Given the description of an element on the screen output the (x, y) to click on. 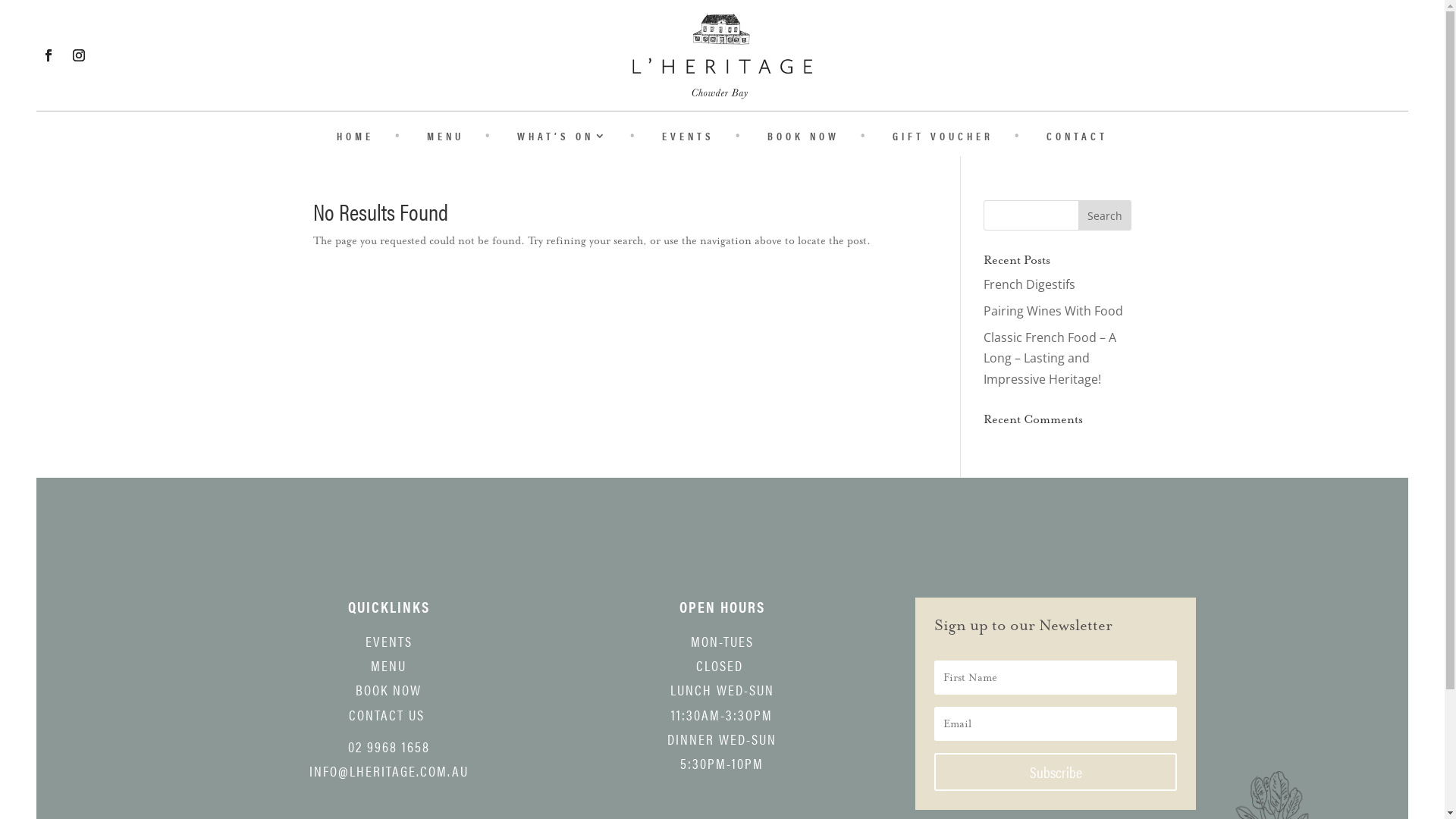
Follow on Instagram Element type: hover (78, 55)
MENU Element type: text (445, 138)
Search Element type: text (1104, 215)
CONTACT Element type: text (1076, 138)
HOME Element type: text (354, 138)
Pairing Wines With Food Element type: text (1053, 310)
EVENTS Element type: text (688, 138)
EVENTS Element type: text (388, 640)
MENU
BOOK NOW Element type: text (388, 677)
Subscribe Element type: text (1055, 771)
Follow on Facebook Element type: hover (48, 55)
CONTACT US Element type: text (386, 714)
French Digestifs Element type: text (1029, 284)
BOOK NOW Element type: text (803, 138)
GIFT VOUCHER Element type: text (942, 138)
